Given the description of an element on the screen output the (x, y) to click on. 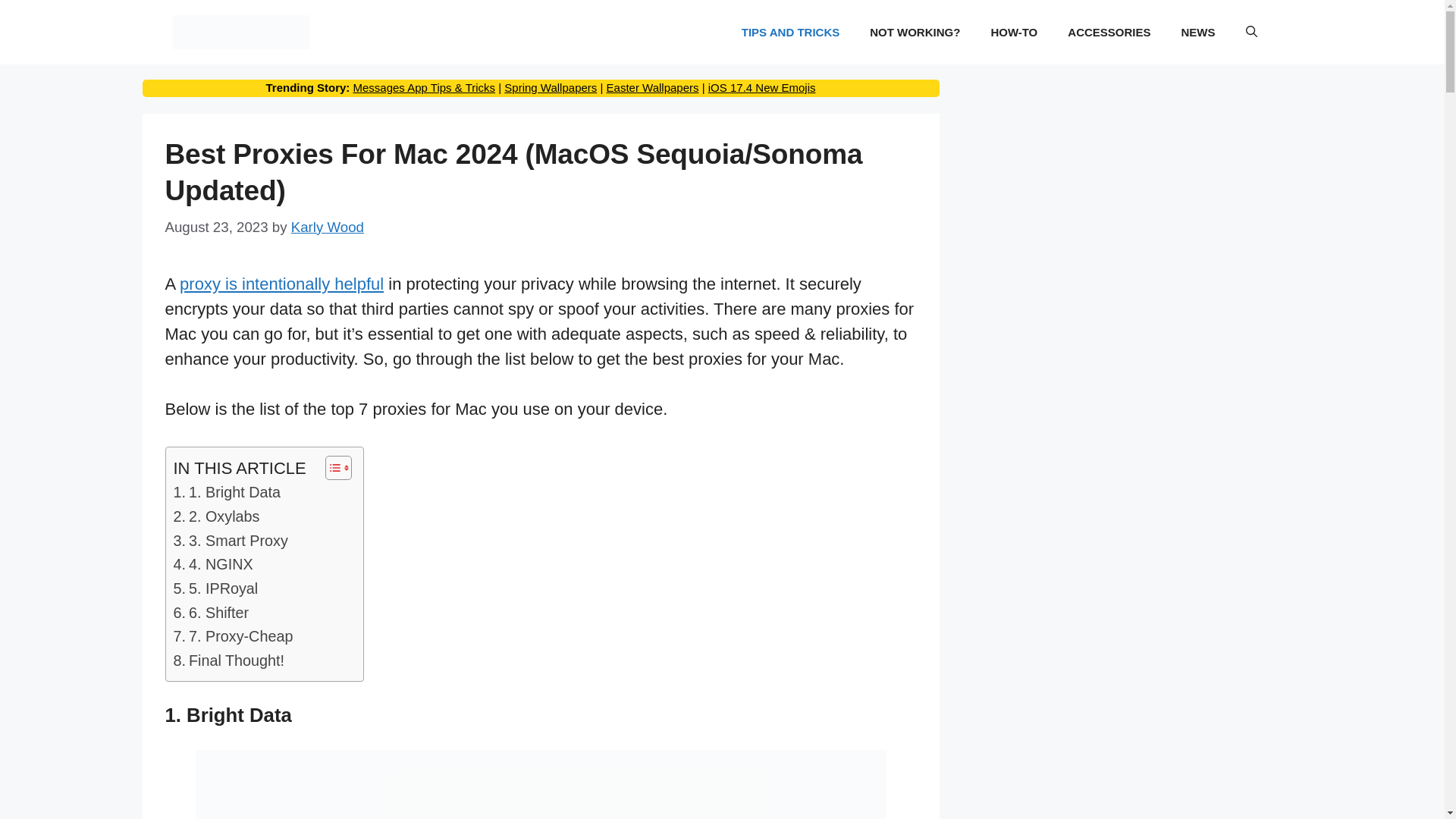
TIPS AND TRICKS (790, 31)
3. Smart Proxy (229, 541)
HOW-TO (1013, 31)
NEWS (1198, 31)
Final Thought! (228, 661)
ACCESSORIES (1109, 31)
6. Shifter (210, 613)
7. Proxy-Cheap (232, 636)
7. Proxy-Cheap (232, 636)
5. IPRoyal  (217, 589)
4. NGINX (212, 564)
Easter Wallpapers (652, 87)
2. Oxylabs (216, 517)
proxy is intentionally helpful (281, 283)
